Given the description of an element on the screen output the (x, y) to click on. 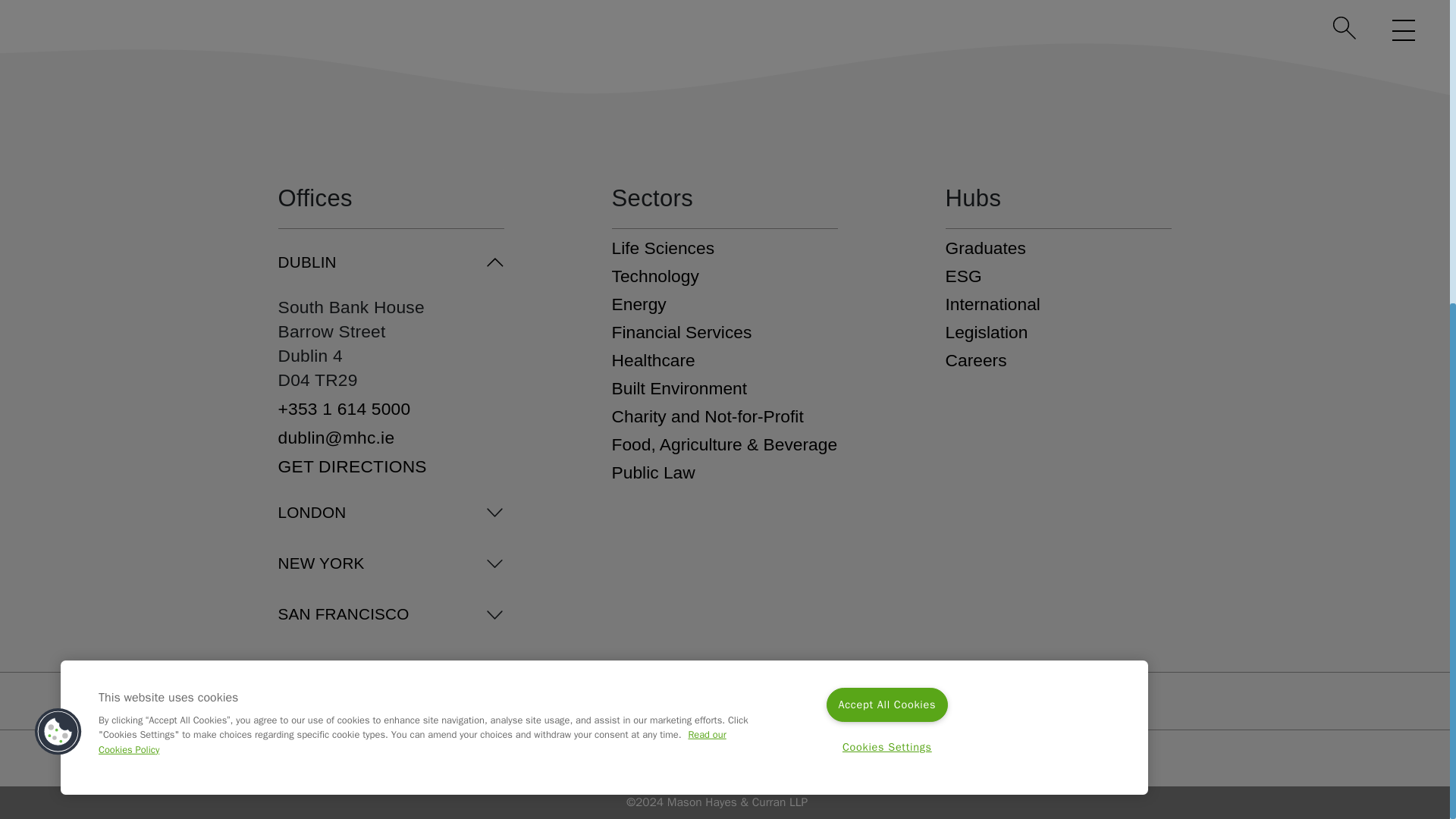
LONDON (391, 512)
DUBLIN (391, 261)
GET DIRECTIONS (391, 464)
Cookies Button (57, 250)
